Given the description of an element on the screen output the (x, y) to click on. 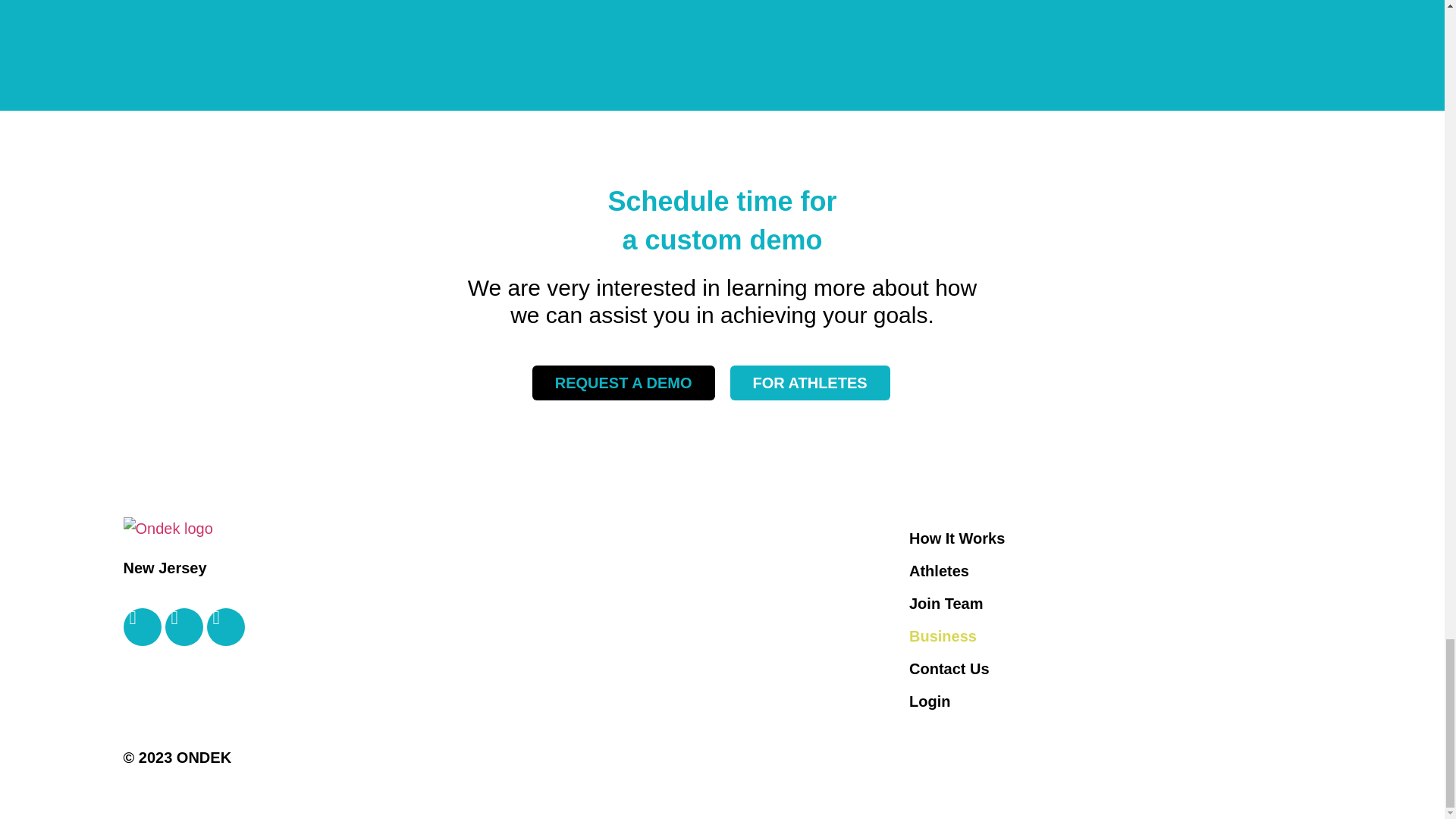
FOR ATHLETES (809, 382)
How It Works (1110, 538)
Contact Us (1110, 668)
REQUEST A DEMO (623, 382)
Business (1110, 635)
Login (1110, 701)
Join Team (1110, 603)
Athletes (1110, 570)
